Given the description of an element on the screen output the (x, y) to click on. 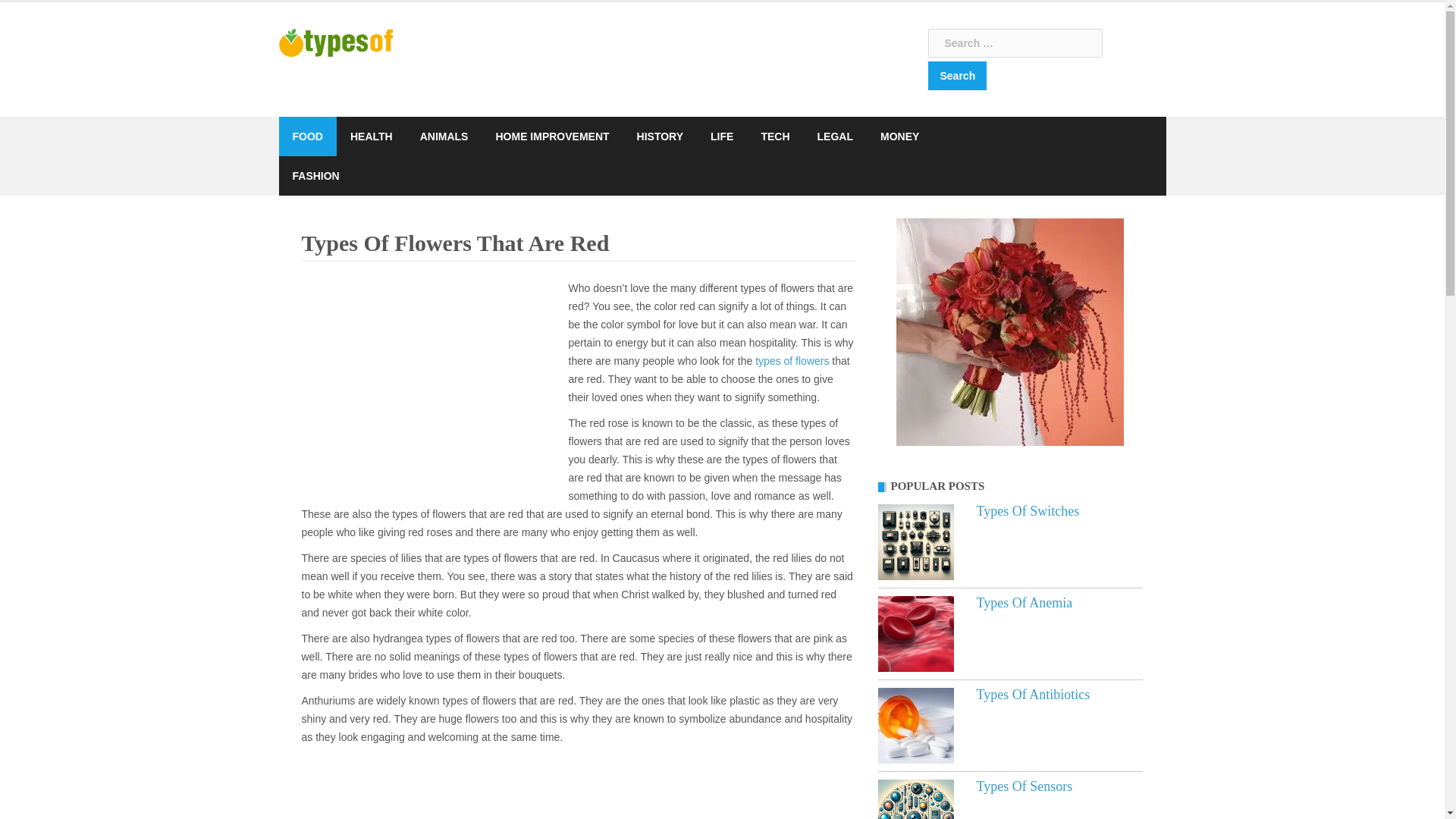
MONEY (899, 136)
Types Of Sensors (1024, 785)
LEGAL (834, 136)
Types Of Switches (1028, 510)
Types Of Antibiotics (1033, 694)
Types Of Switches (915, 541)
Types Of Sensors (915, 799)
Types Of Antibiotics (915, 725)
Search (957, 75)
Search (957, 75)
